Given the description of an element on the screen output the (x, y) to click on. 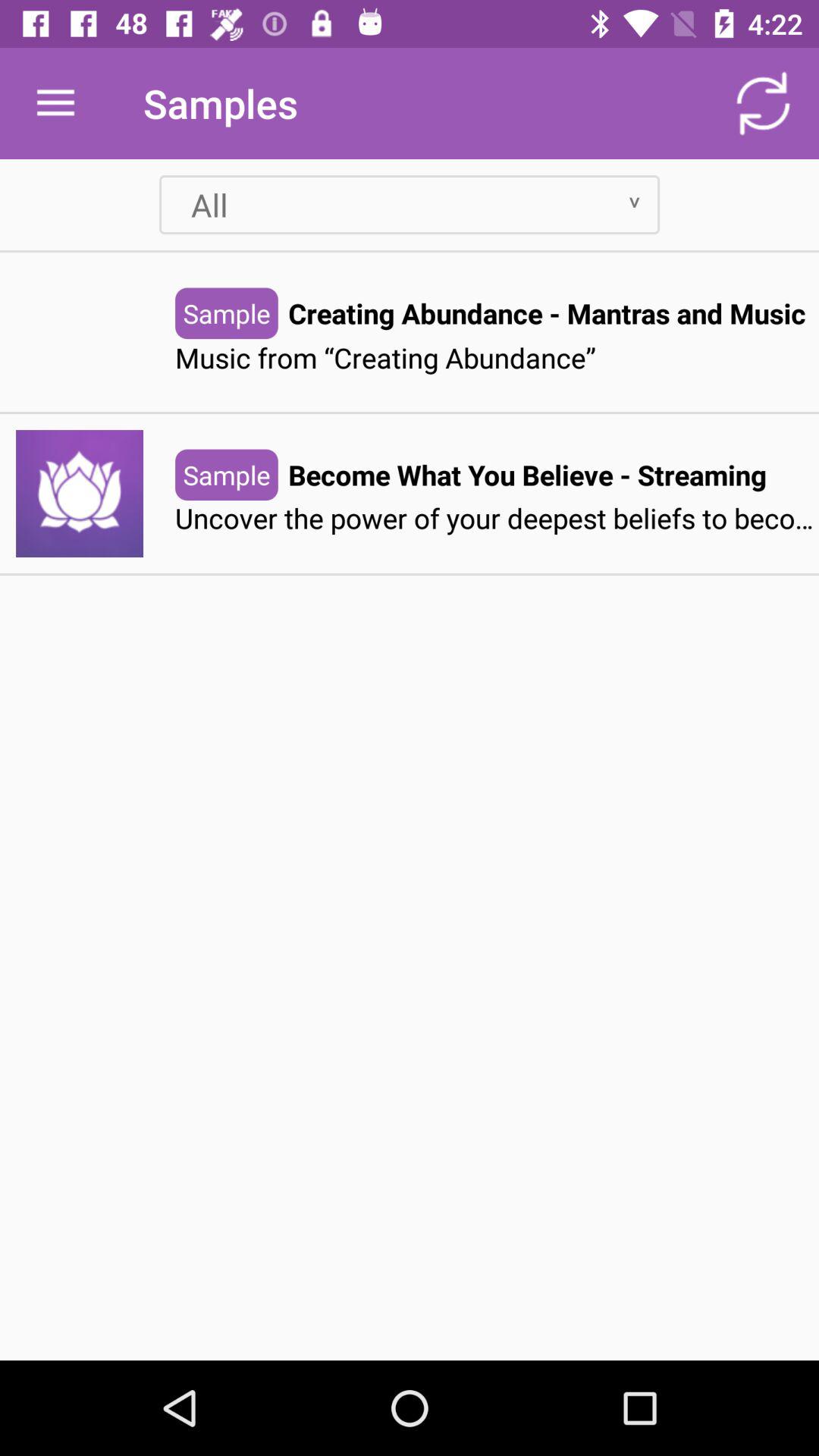
turn on the uncover the power icon (497, 519)
